Given the description of an element on the screen output the (x, y) to click on. 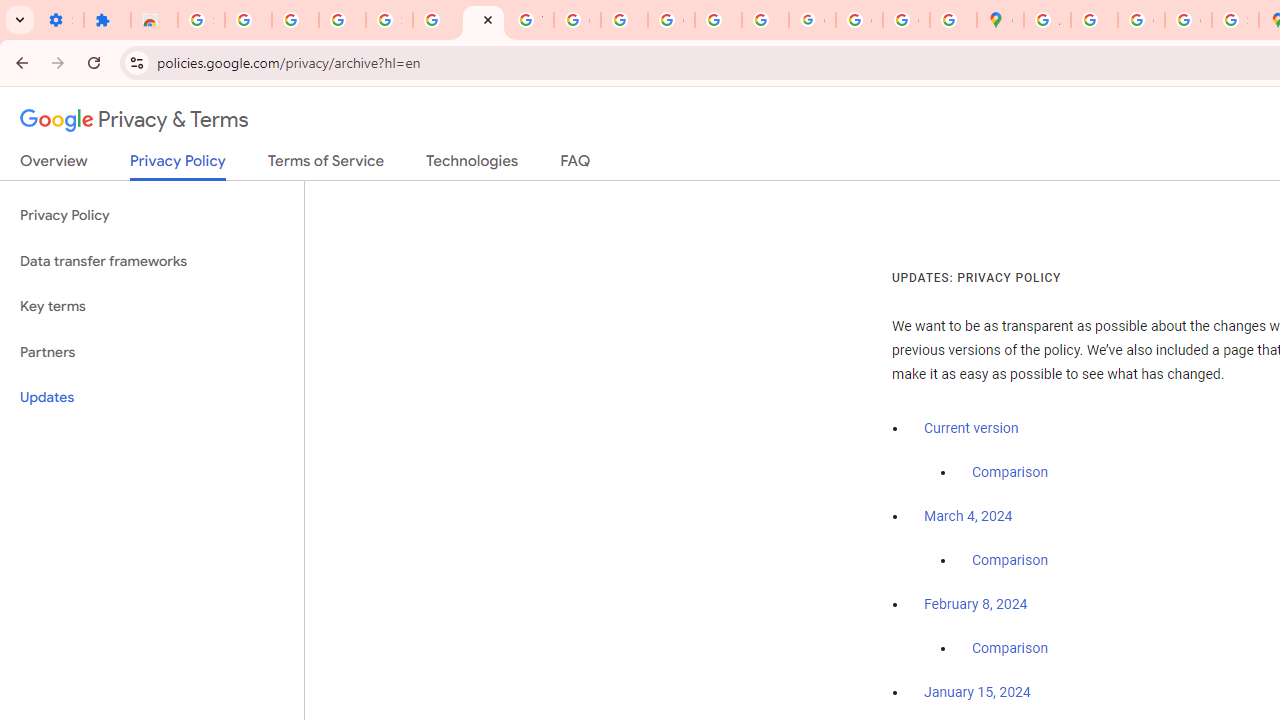
YouTube (530, 20)
Sign in - Google Accounts (389, 20)
Current version (971, 428)
Sign in - Google Accounts (201, 20)
